Given the description of an element on the screen output the (x, y) to click on. 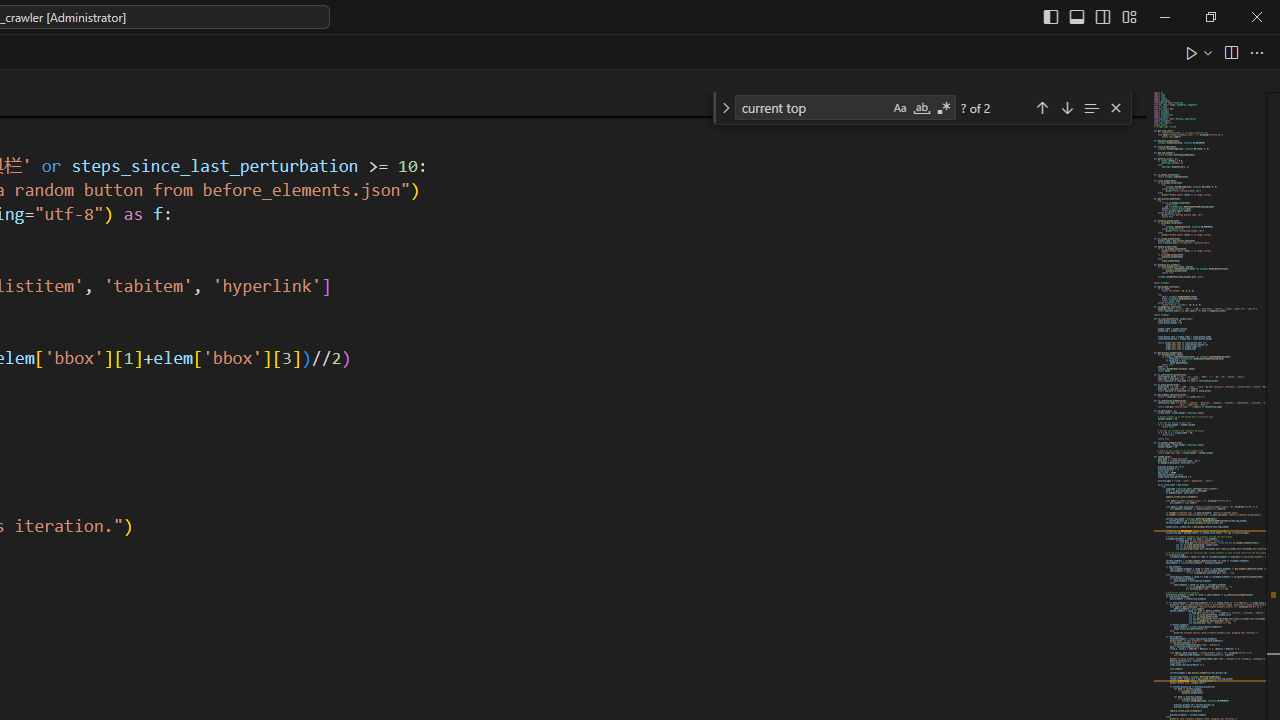
Find (812, 106)
Toggle Replace (725, 107)
Match Whole Word (Alt+W) (921, 107)
Use Regular Expression (Alt+R) (943, 107)
Customize Layout... (1128, 16)
Split Editor Right (Ctrl+\) [Alt] Split Editor Down (1230, 52)
More Actions... (1256, 52)
Toggle Primary Side Bar (Ctrl+B) (1050, 16)
Run or Debug... (1208, 52)
Match Case (Alt+C) (899, 107)
Editor actions (1226, 52)
Next Match (Enter) (1066, 106)
Toggle Secondary Side Bar (Ctrl+Alt+B) (1102, 16)
Title actions (1089, 16)
